Given the description of an element on the screen output the (x, y) to click on. 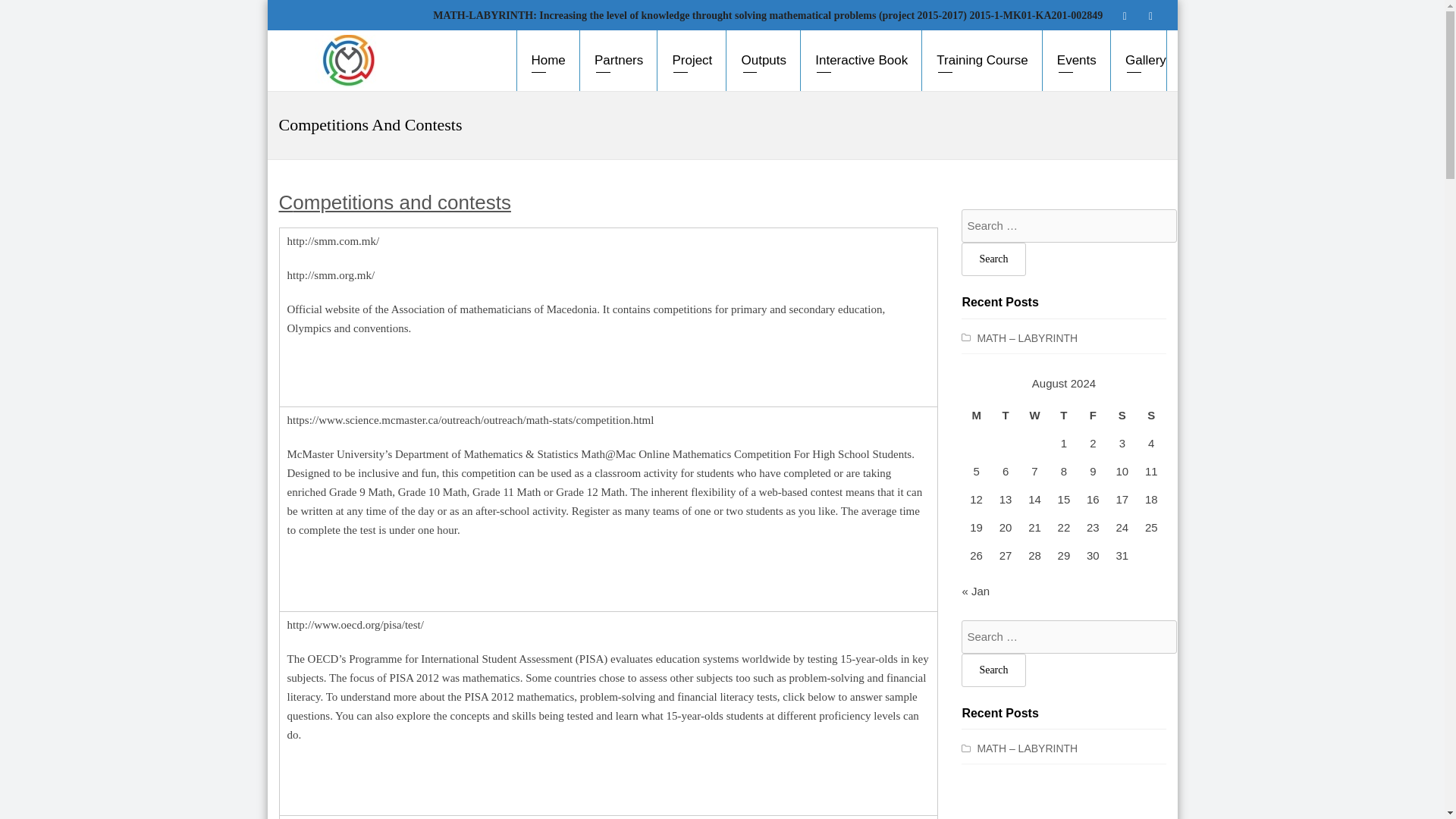
Monday (975, 415)
Facebook (1124, 15)
Home (547, 60)
Search (992, 259)
Saturday (1122, 415)
Gallery (1139, 60)
Youtube (1149, 15)
Search (992, 670)
Partners (619, 60)
Outputs (765, 60)
